Given the description of an element on the screen output the (x, y) to click on. 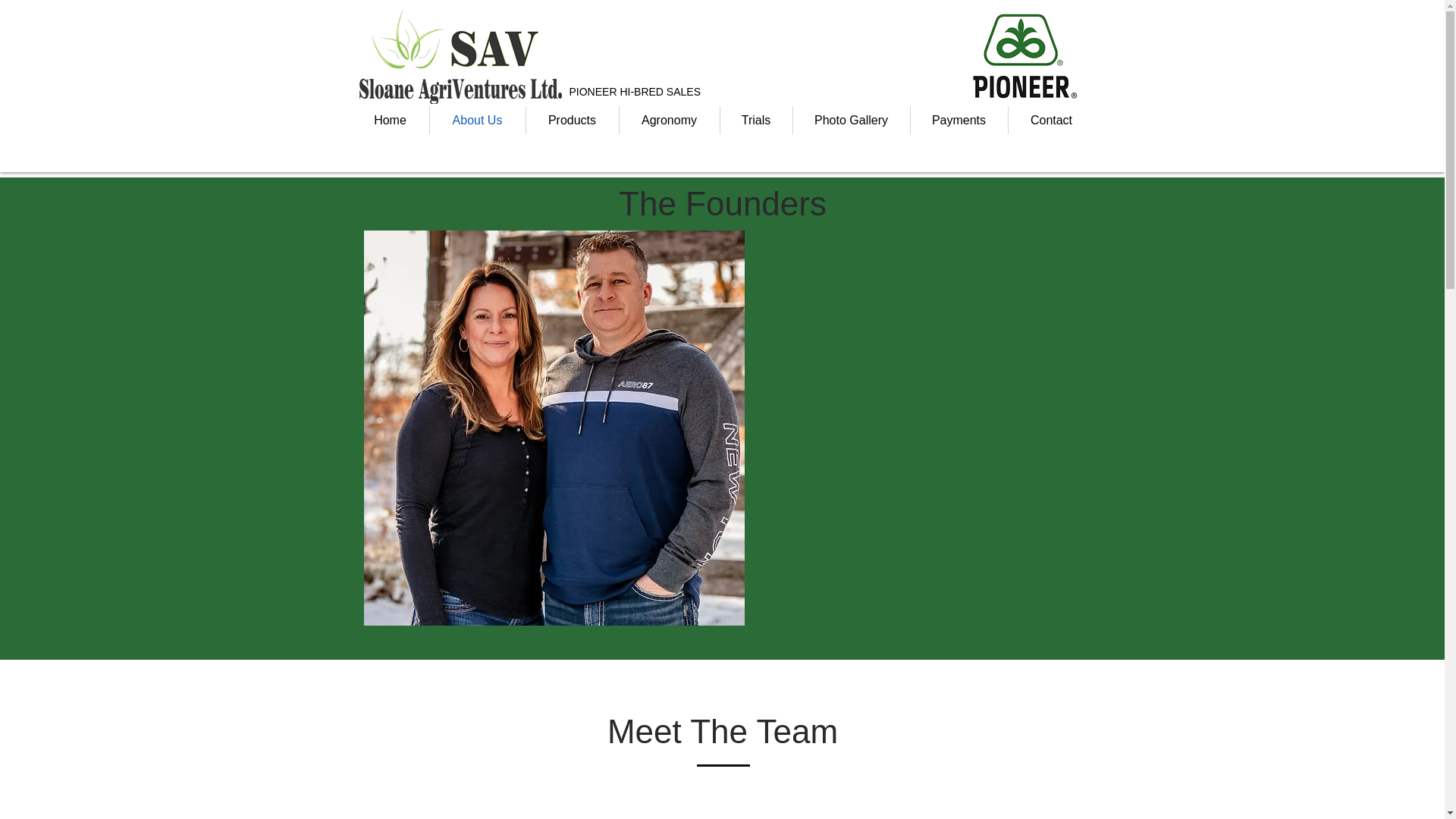
Home (390, 120)
Products (571, 120)
Contact (1051, 120)
Payments (958, 120)
Photo Gallery (851, 120)
Agronomy (668, 120)
Trials (756, 120)
About Us (476, 120)
